Given the description of an element on the screen output the (x, y) to click on. 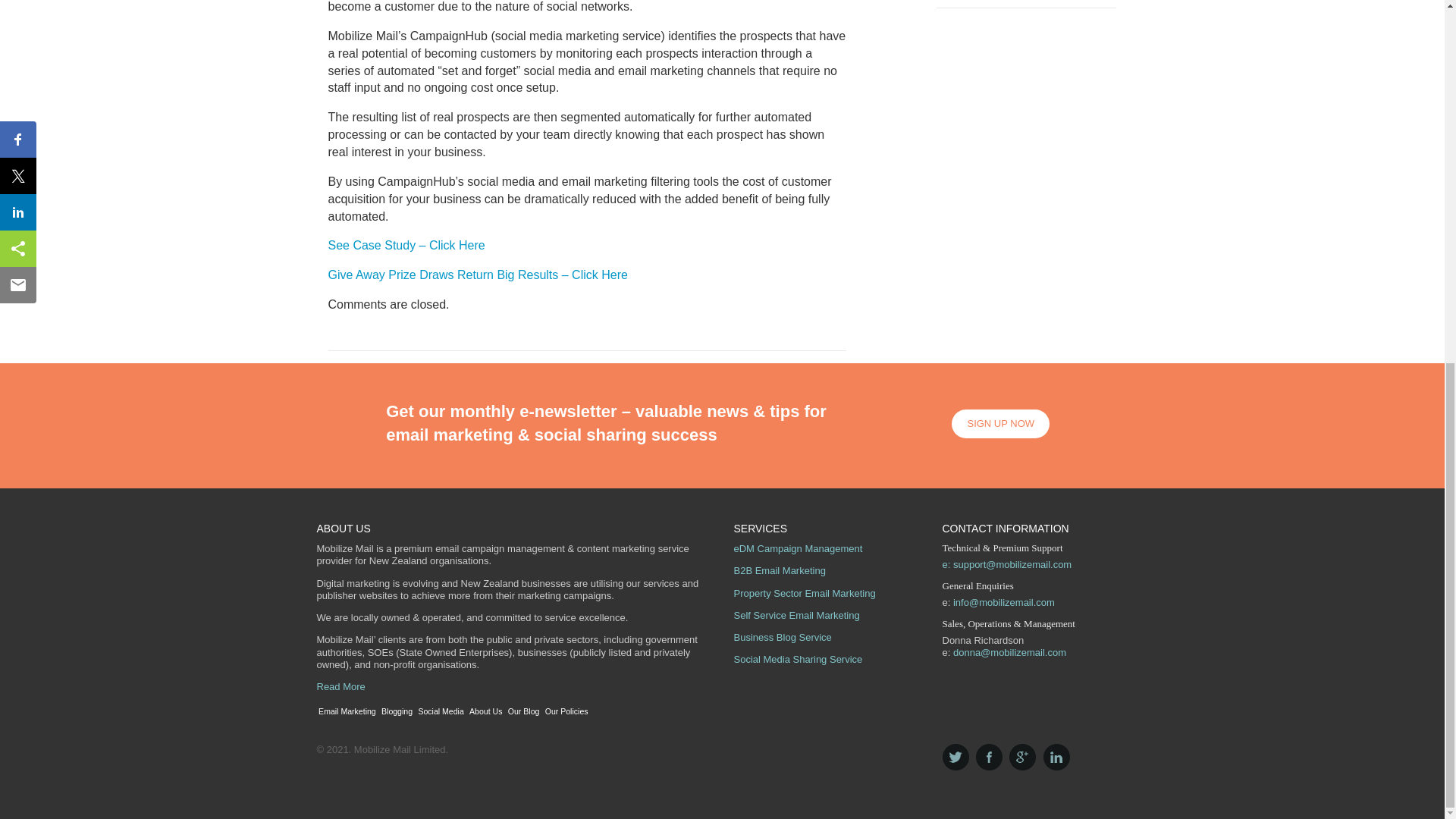
Property Sector Email Marketing (804, 593)
Social Media (441, 710)
Email Marketing (347, 710)
Blogging (397, 710)
eDM Campaign Management (798, 548)
Our Blog (524, 710)
SIGN UP NOW (1000, 423)
Our Policies (566, 710)
Self Service Email Marketing (796, 614)
About Us (485, 710)
Read More (341, 686)
B2B Email Marketing (779, 570)
